Given the description of an element on the screen output the (x, y) to click on. 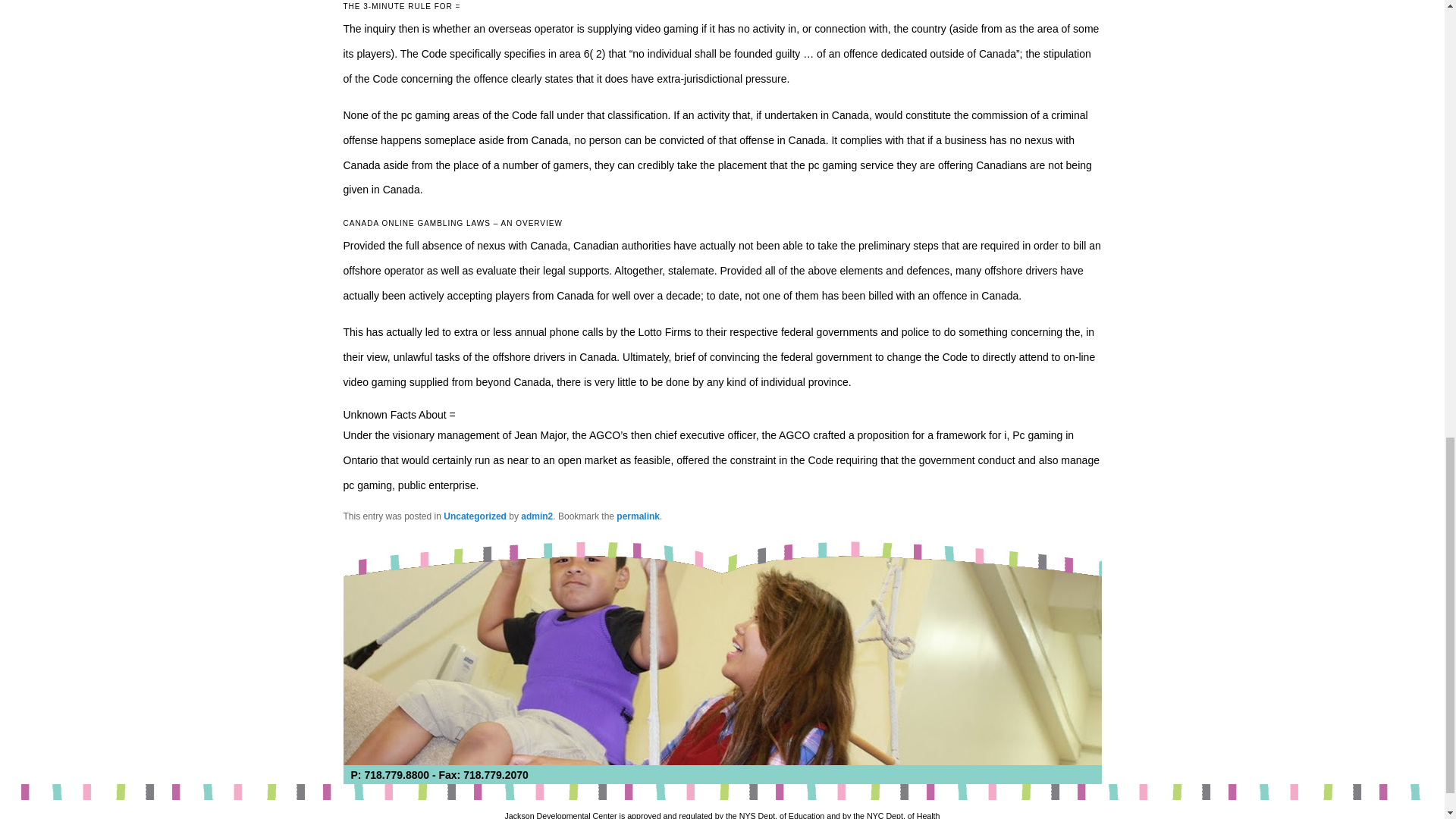
Uncategorized (475, 516)
admin2 (537, 516)
permalink (637, 516)
